Given the description of an element on the screen output the (x, y) to click on. 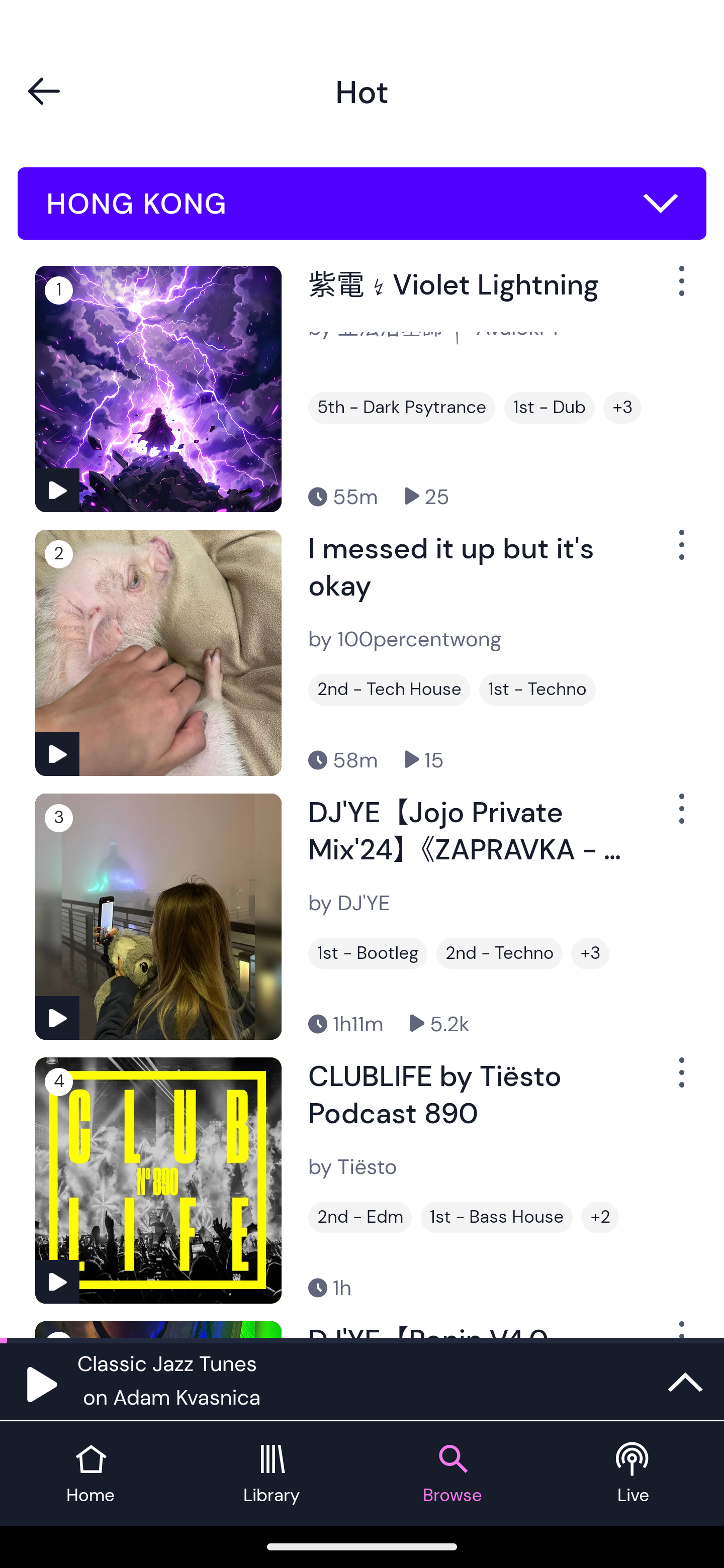
HONG KONG (361, 203)
Show Options Menu Button (679, 289)
5th - Dark Psytrance (401, 407)
1st - Dub (549, 407)
Show Options Menu Button (679, 552)
2nd - Tech House (388, 689)
1st - Techno (537, 689)
Show Options Menu Button (679, 815)
1st - Bootleg (367, 953)
2nd - Techno (499, 953)
Show Options Menu Button (679, 1079)
2nd - Edm (359, 1217)
1st - Bass House (496, 1217)
Home tab Home (90, 1473)
Library tab Library (271, 1473)
Browse tab Browse (452, 1473)
Live tab Live (633, 1473)
